Given the description of an element on the screen output the (x, y) to click on. 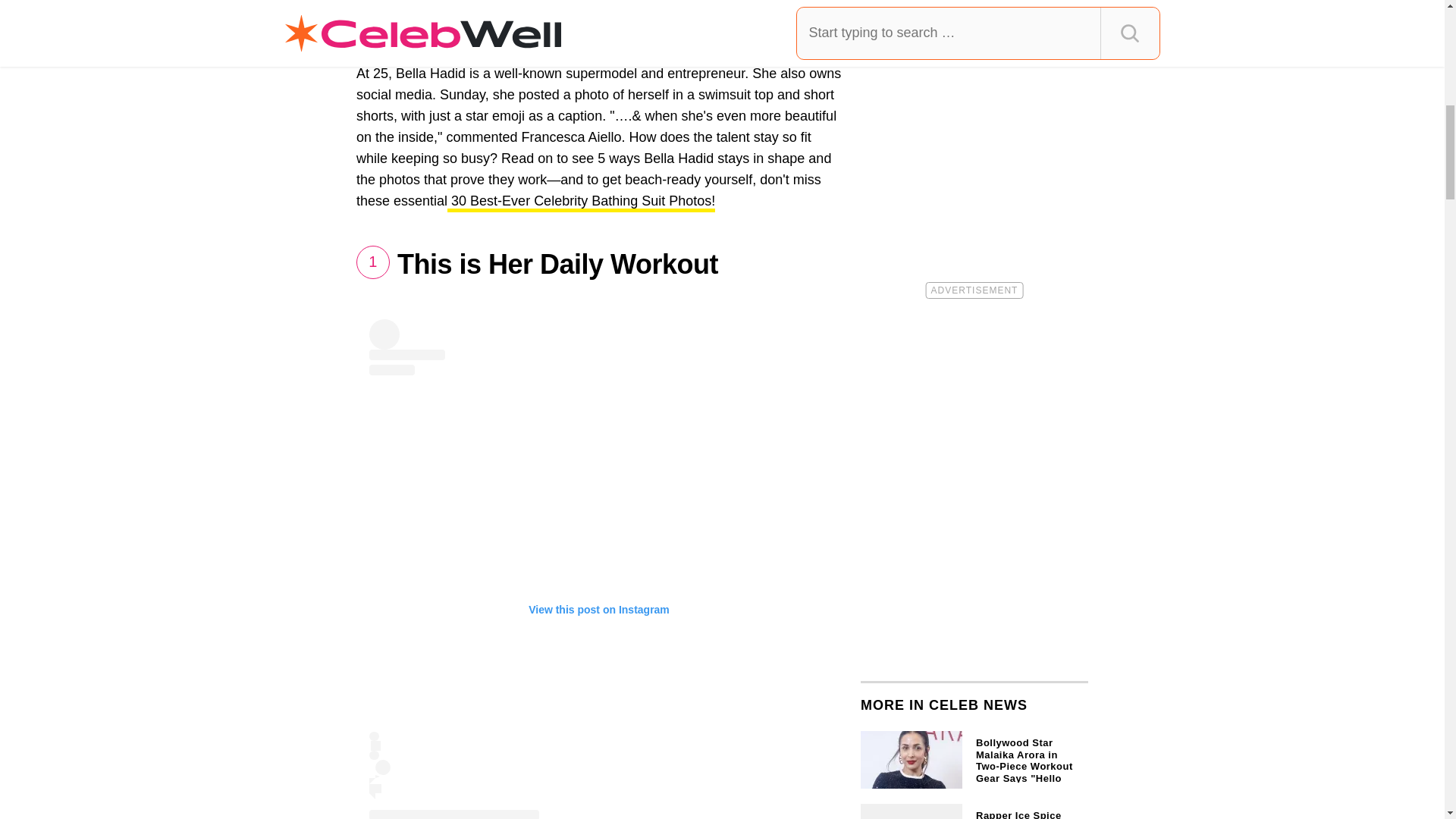
Facebook (407, 32)
Share via e-mail (587, 32)
Twitter (515, 32)
Share on Twitter (515, 32)
30 Best-Ever Celebrity Bathing Suit Photos! (580, 202)
Share on Facebook (407, 32)
